Given the description of an element on the screen output the (x, y) to click on. 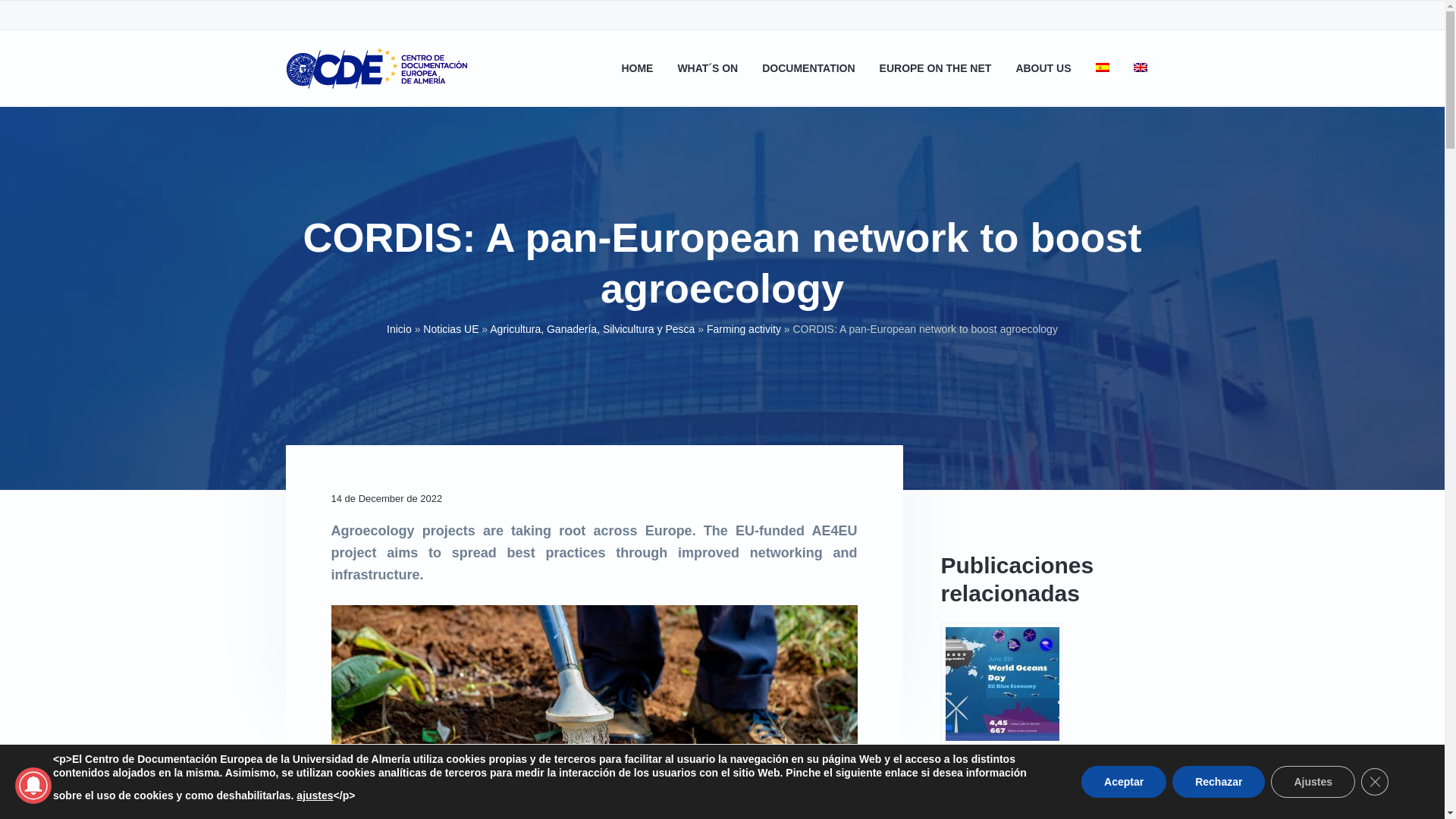
EUROPE ON THE NET (935, 67)
DOCUMENTATION (807, 67)
HOME (636, 67)
ABOUT US (1042, 67)
